Given the description of an element on the screen output the (x, y) to click on. 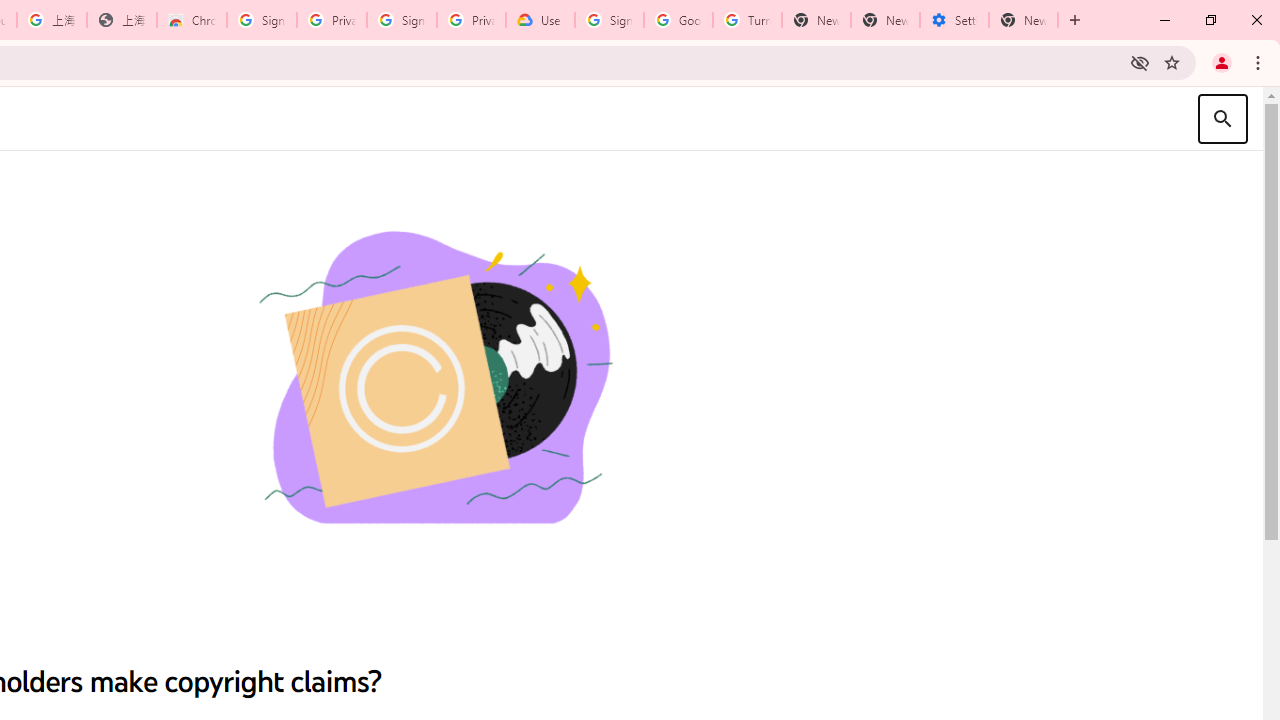
Settings - System (954, 20)
Google Account Help (677, 20)
New Tab (1023, 20)
Sign in - Google Accounts (608, 20)
Chrome Web Store - Color themes by Chrome (191, 20)
Turn cookies on or off - Computer - Google Account Help (747, 20)
